Given the description of an element on the screen output the (x, y) to click on. 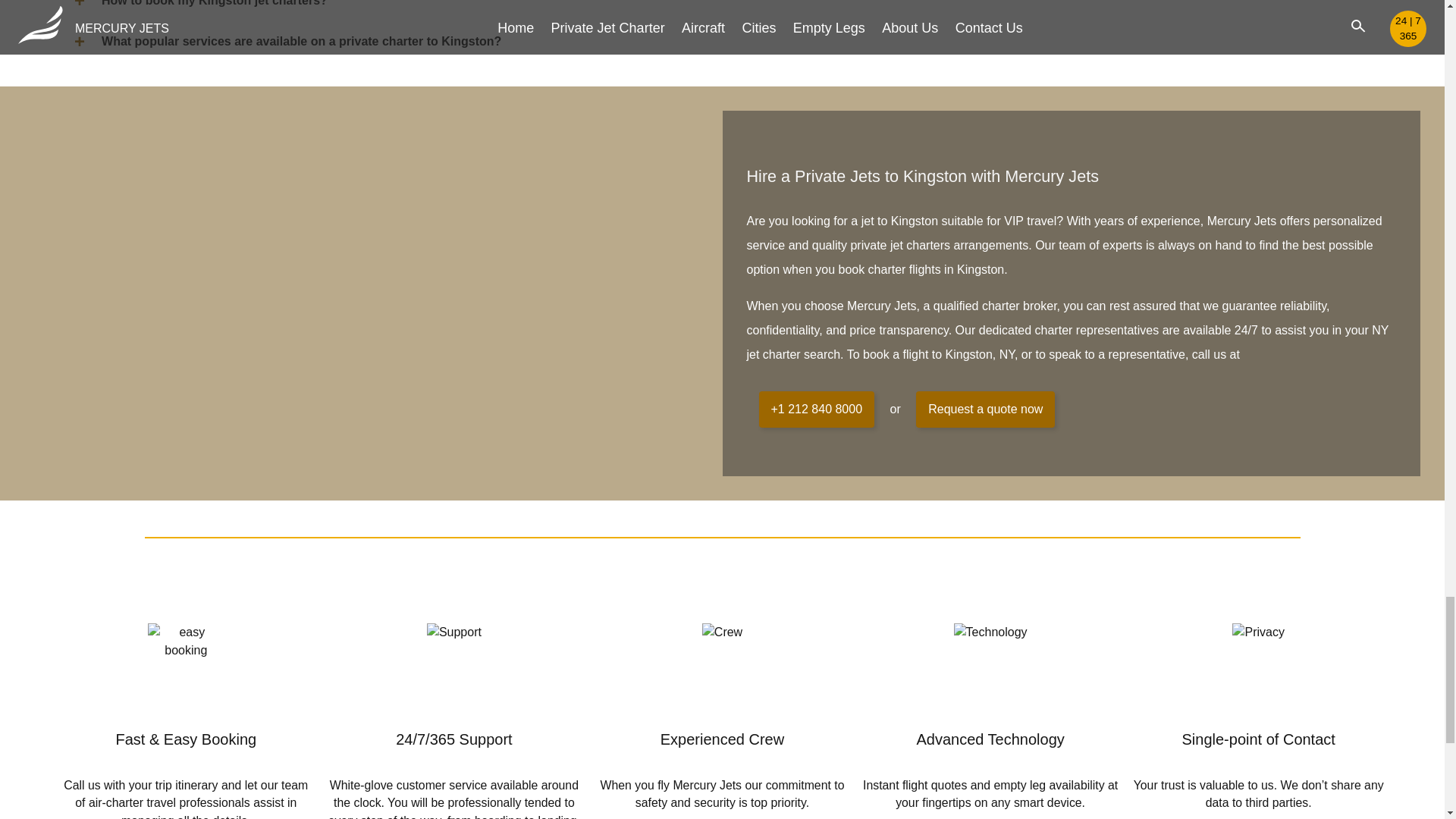
Request a quote now (984, 409)
